Given the description of an element on the screen output the (x, y) to click on. 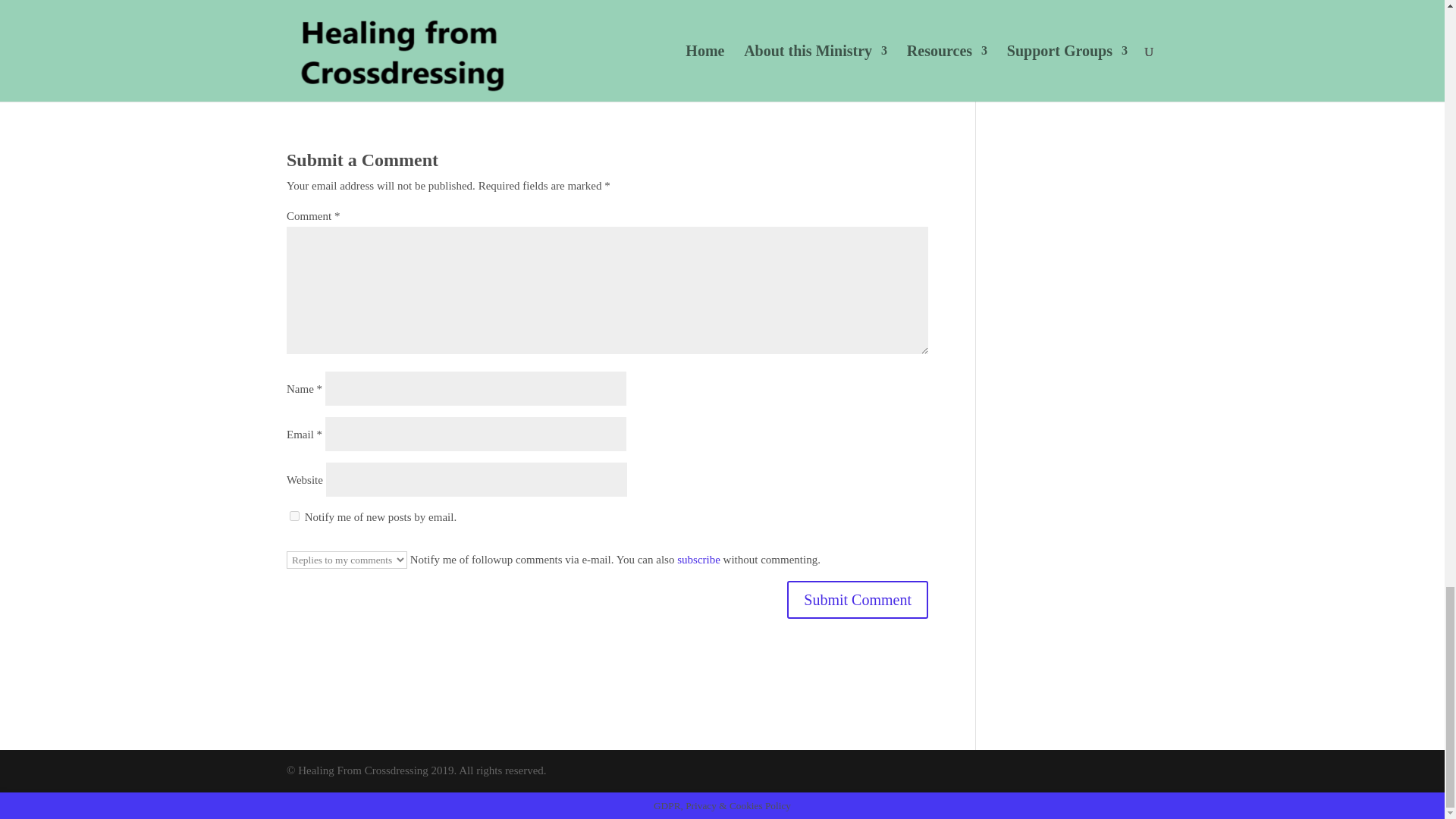
subscribe (294, 515)
subscribe (698, 559)
Submit Comment (857, 599)
Submit Comment (857, 599)
